Given the description of an element on the screen output the (x, y) to click on. 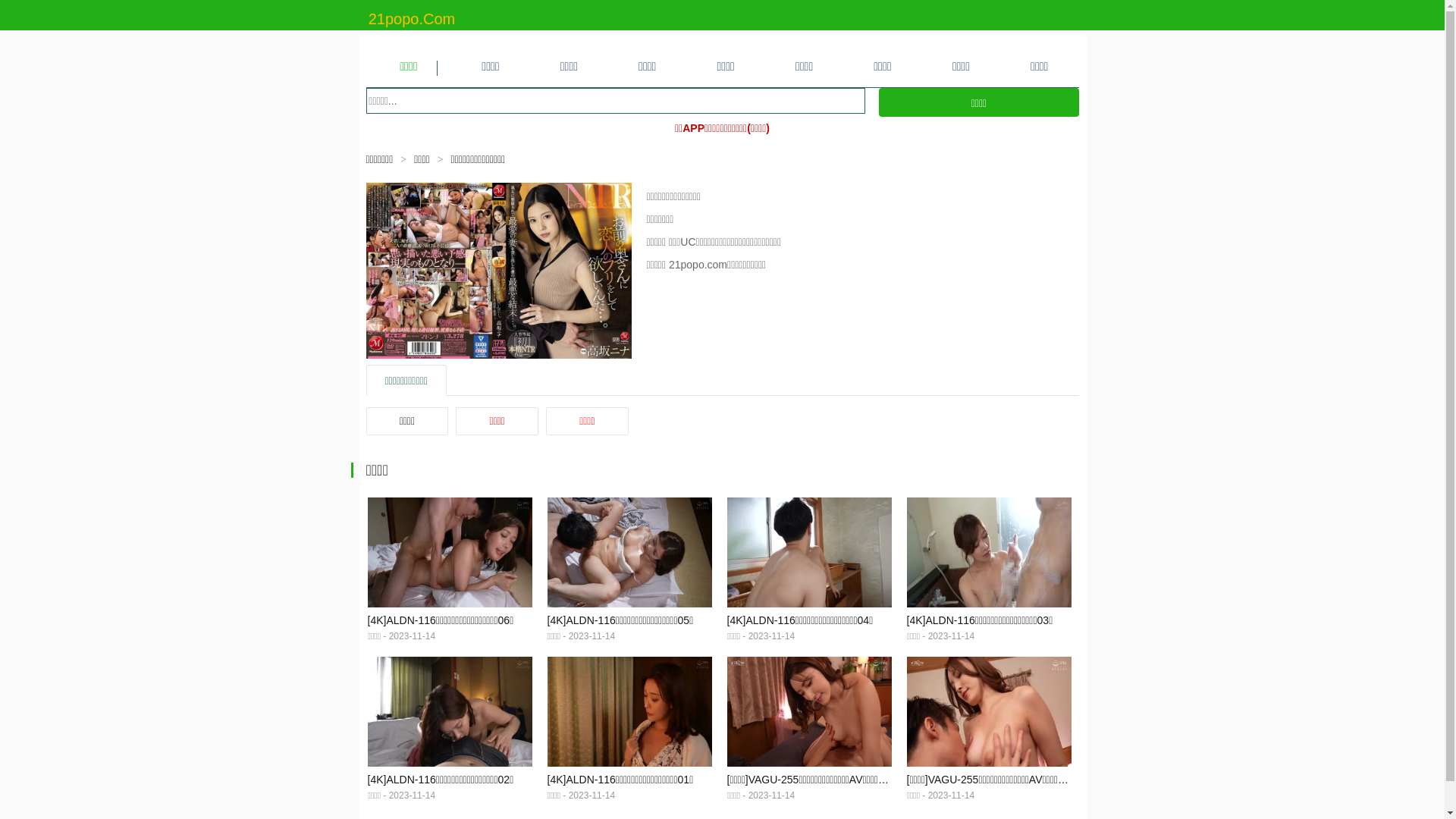
21popo.Com Element type: text (411, 18)
